Given the description of an element on the screen output the (x, y) to click on. 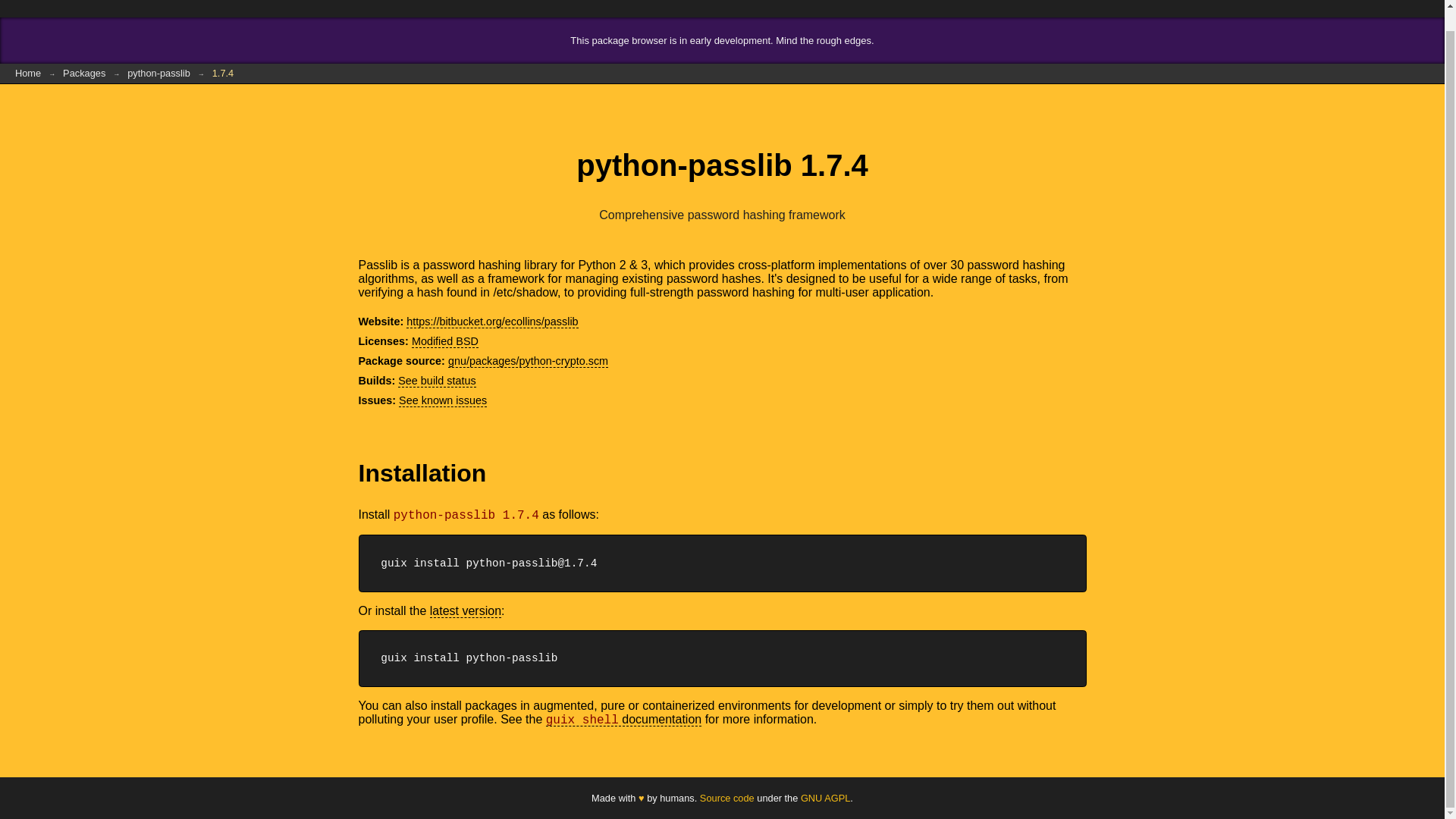
guix shell documentation (623, 719)
Modified BSD (445, 341)
Source code (727, 797)
GNU Guix (60, 8)
GNU AGPL (825, 797)
1.7.4 (222, 73)
latest version (464, 611)
See known issues (442, 400)
See build status (436, 380)
Packages (84, 73)
